Given the description of an element on the screen output the (x, y) to click on. 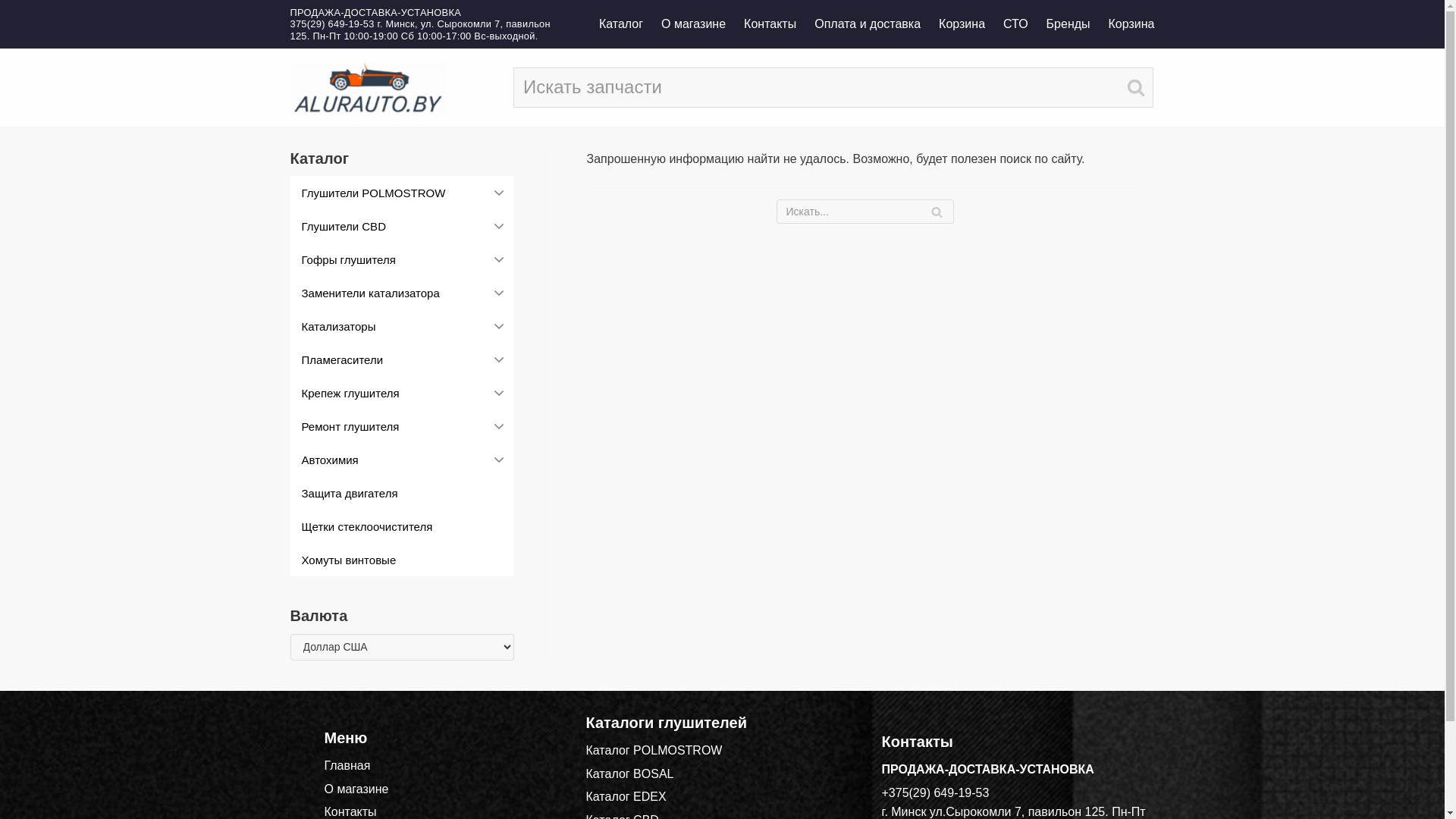
alurauto.by Element type: hover (367, 87)
